Given the description of an element on the screen output the (x, y) to click on. 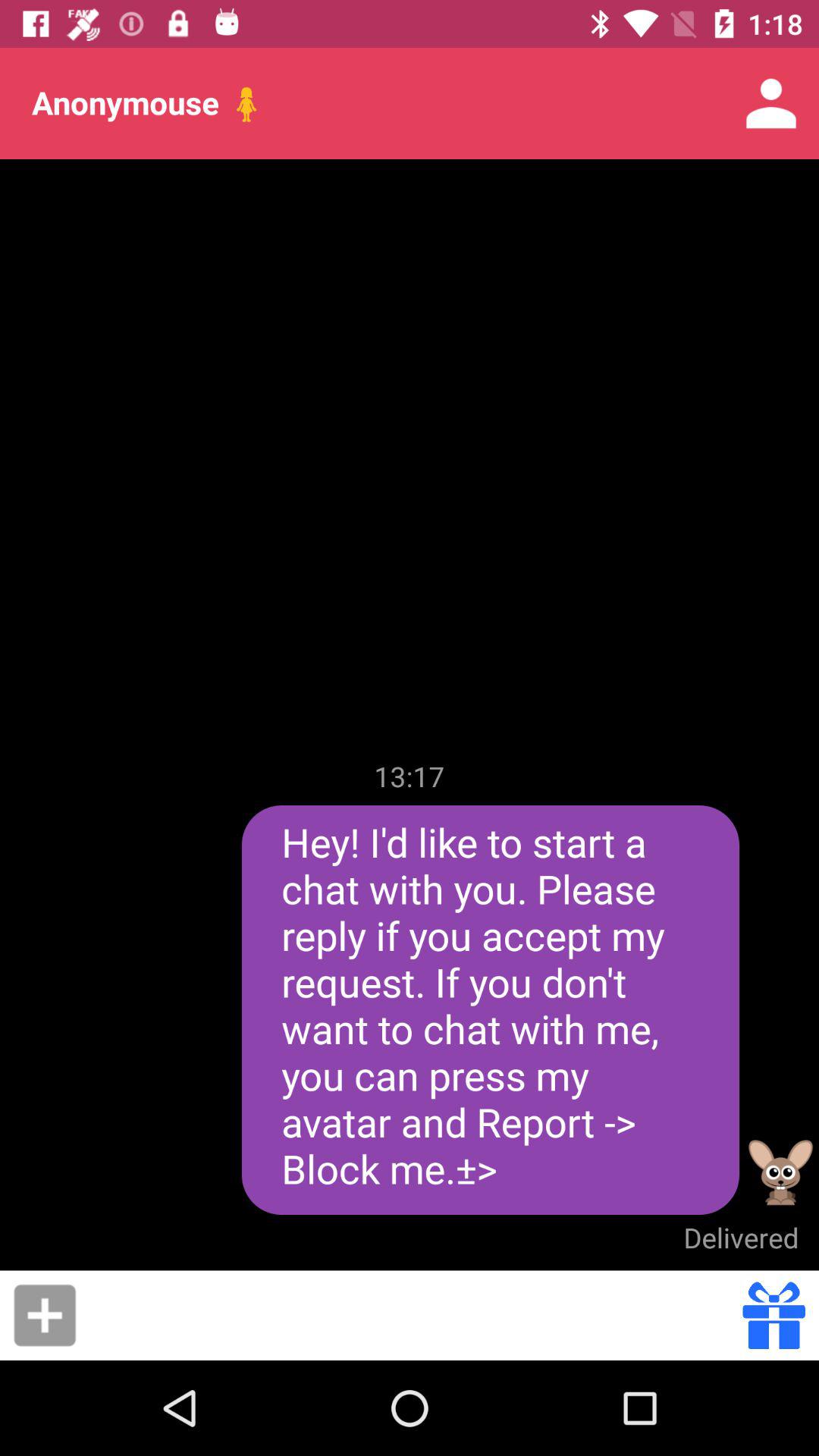
scroll until hey i d icon (490, 1009)
